Given the description of an element on the screen output the (x, y) to click on. 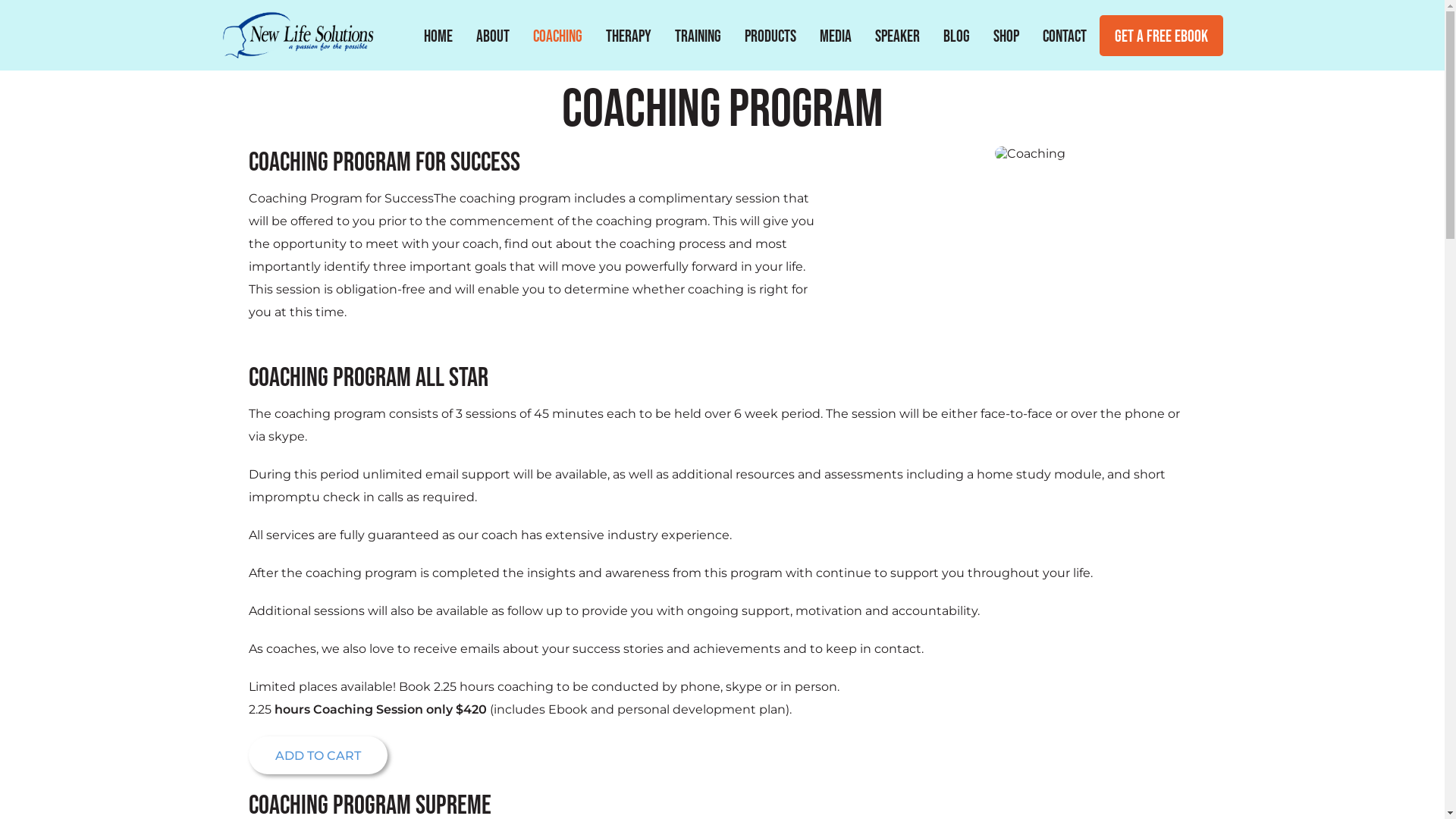
HOME Element type: text (438, 35)
TRAINING Element type: text (696, 35)
MEDIA Element type: text (835, 35)
GET A FREE EBOOK Element type: text (1161, 35)
ADD TO CART Element type: text (317, 755)
PRODUCTS Element type: text (769, 35)
CONTACT Element type: text (1064, 35)
THERAPY Element type: text (628, 35)
SPEAKER Element type: text (896, 35)
SHOP Element type: text (1005, 35)
BLOG Element type: text (955, 35)
COACHING Element type: text (557, 35)
ABOUT Element type: text (492, 35)
